Given the description of an element on the screen output the (x, y) to click on. 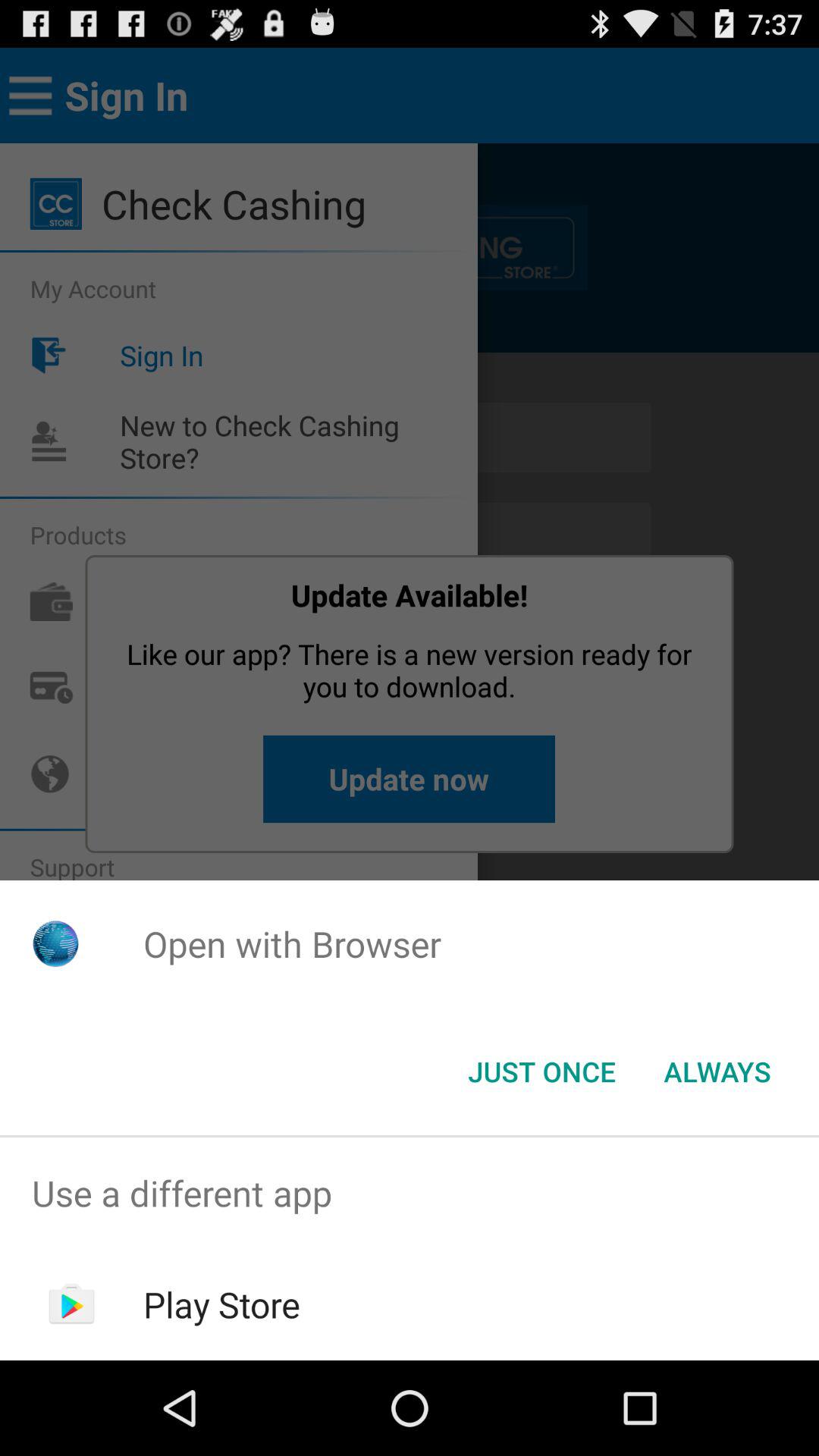
scroll to the always button (717, 1071)
